Given the description of an element on the screen output the (x, y) to click on. 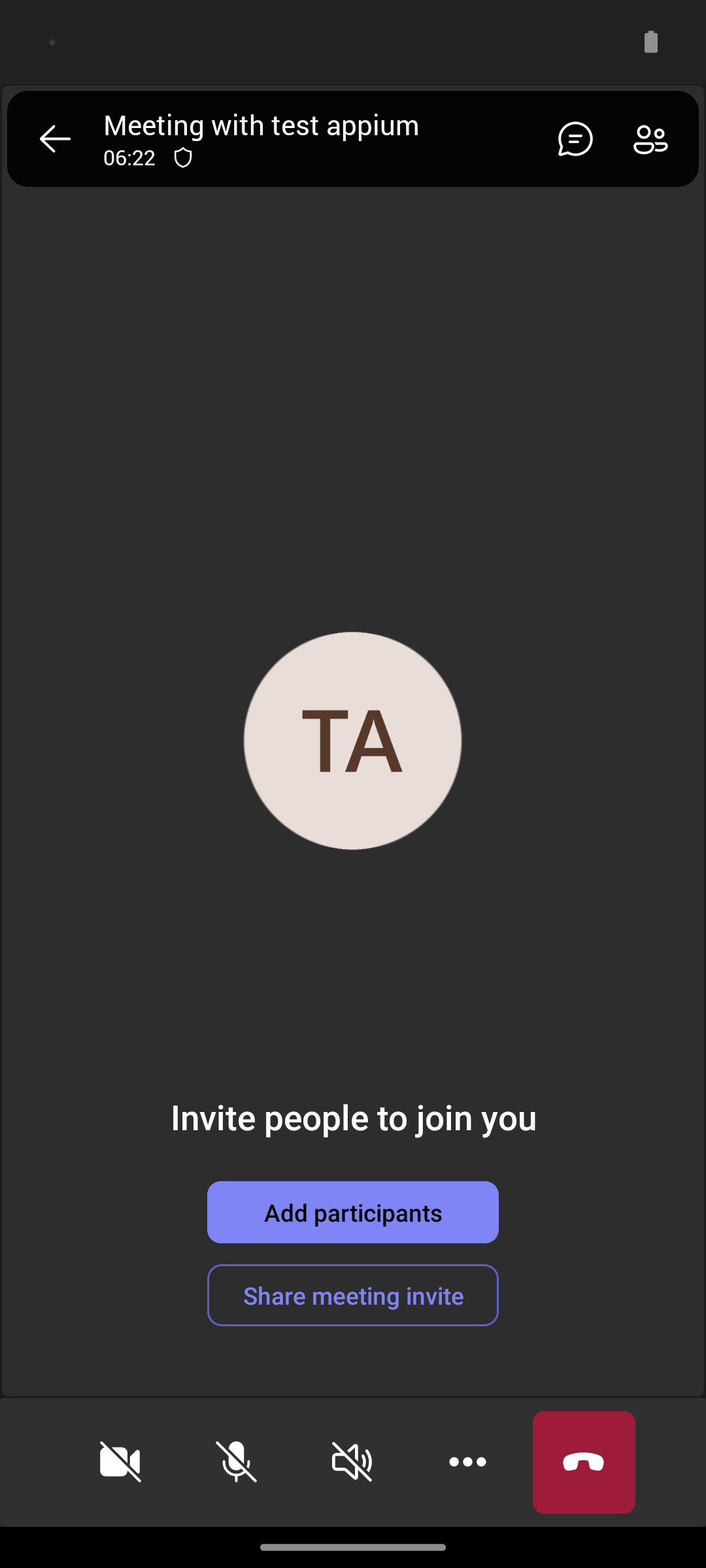
Back (55, 138)
Chat (570, 138)
Show participants (655, 138)
Add participants (352, 1211)
Share meeting invite (352, 1294)
Turn on camera (120, 1462)
Unmute (236, 1462)
Audio (352, 1462)
More options (468, 1462)
Hang up (584, 1462)
